Given the description of an element on the screen output the (x, y) to click on. 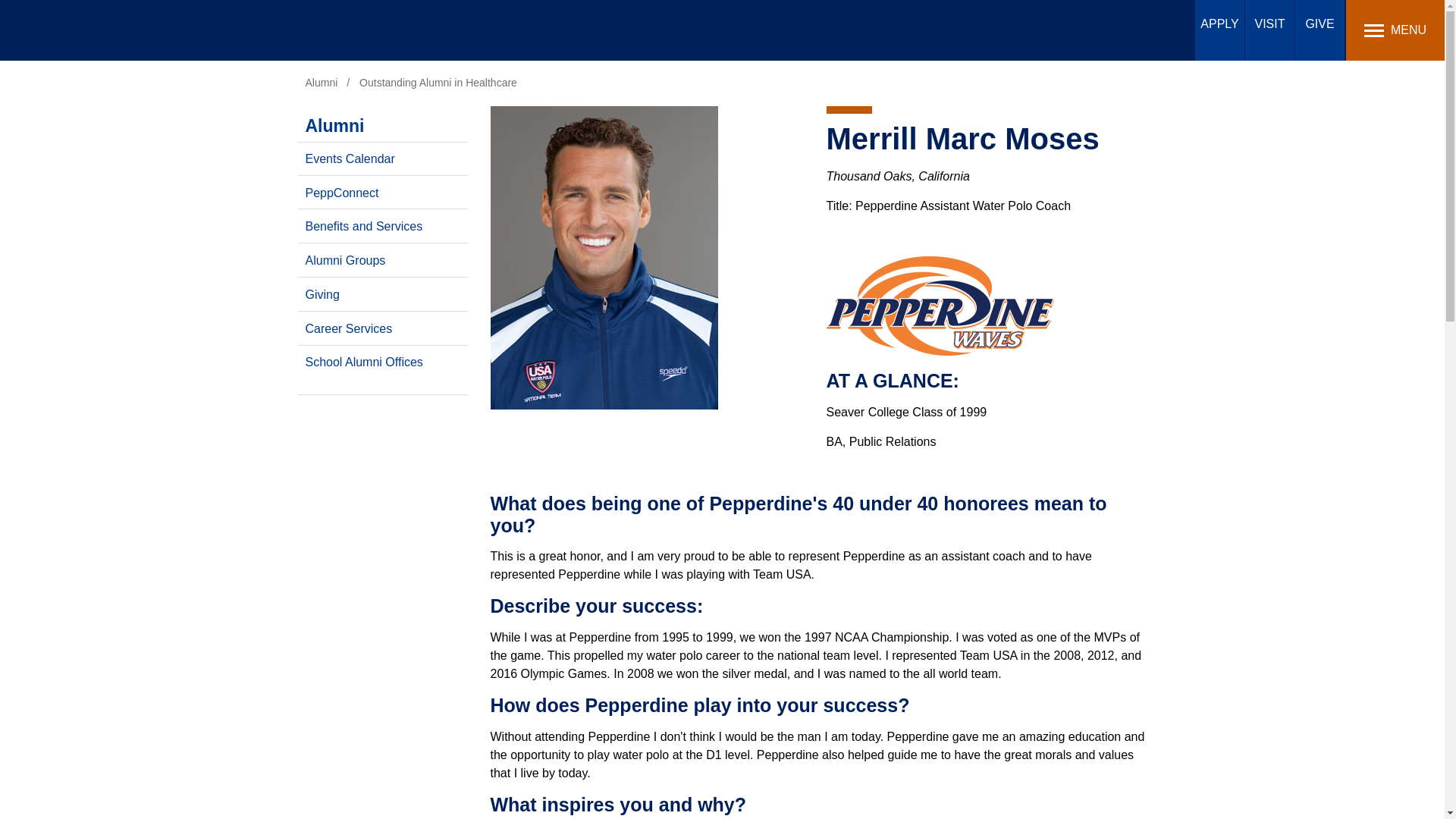
Submit (476, 19)
open search (1182, 29)
Pepperdine University (120, 30)
